Given the description of an element on the screen output the (x, y) to click on. 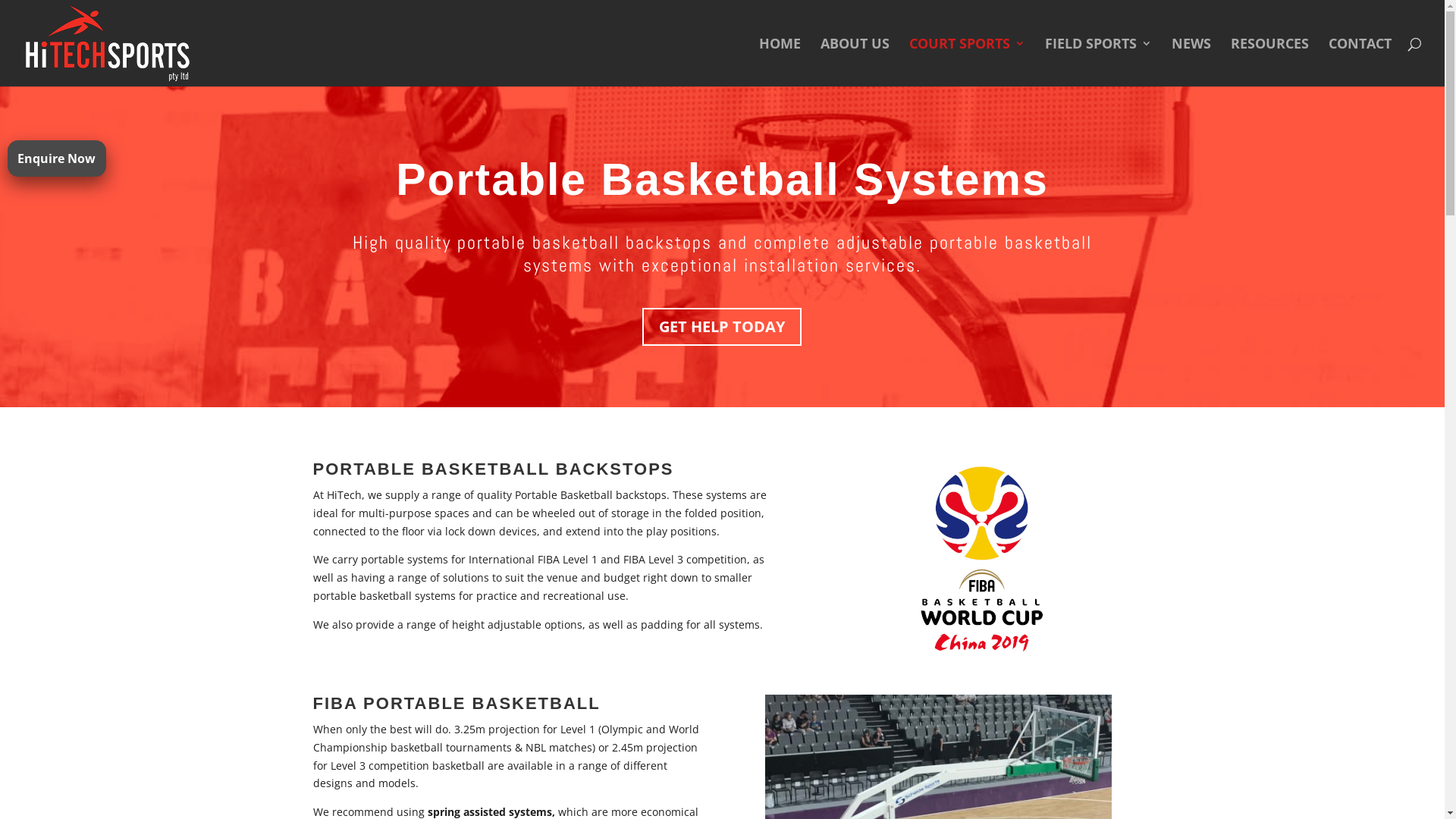
COURT SPORTS Element type: text (967, 61)
NEWS Element type: text (1191, 61)
RESOURCES Element type: text (1269, 61)
CONTACT Element type: text (1359, 61)
ABOUT US Element type: text (854, 61)
HOME Element type: text (779, 61)
GET HELP TODAY Element type: text (721, 326)
FIELD SPORTS Element type: text (1097, 61)
Enquire Now Element type: text (56, 158)
